Given the description of an element on the screen output the (x, y) to click on. 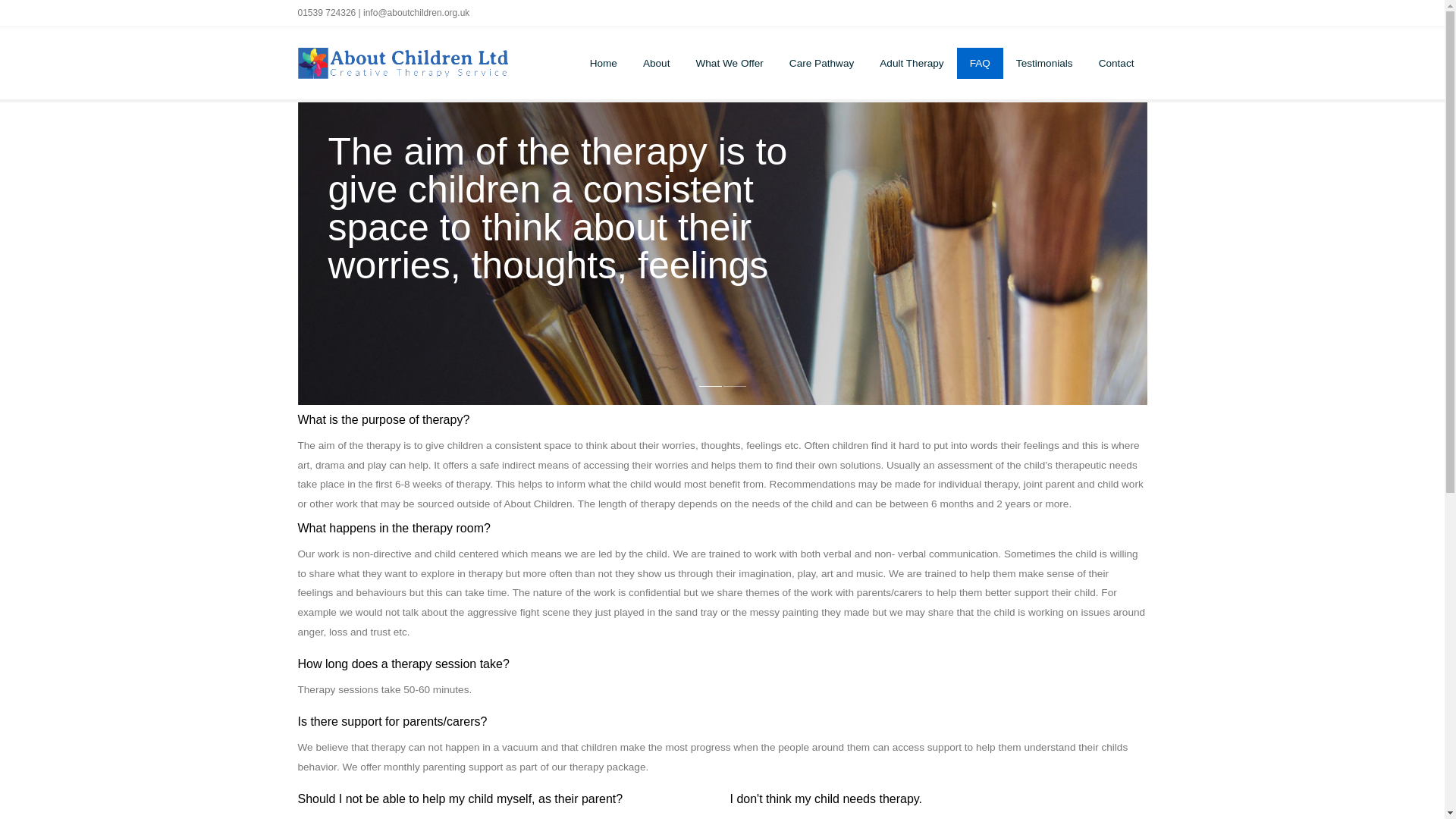
Contact (1116, 62)
Care Pathway (821, 62)
FAQ (979, 62)
What We Offer (729, 62)
Home (603, 62)
Adult Therapy (911, 62)
Testimonials (1044, 62)
About (656, 62)
